Given the description of an element on the screen output the (x, y) to click on. 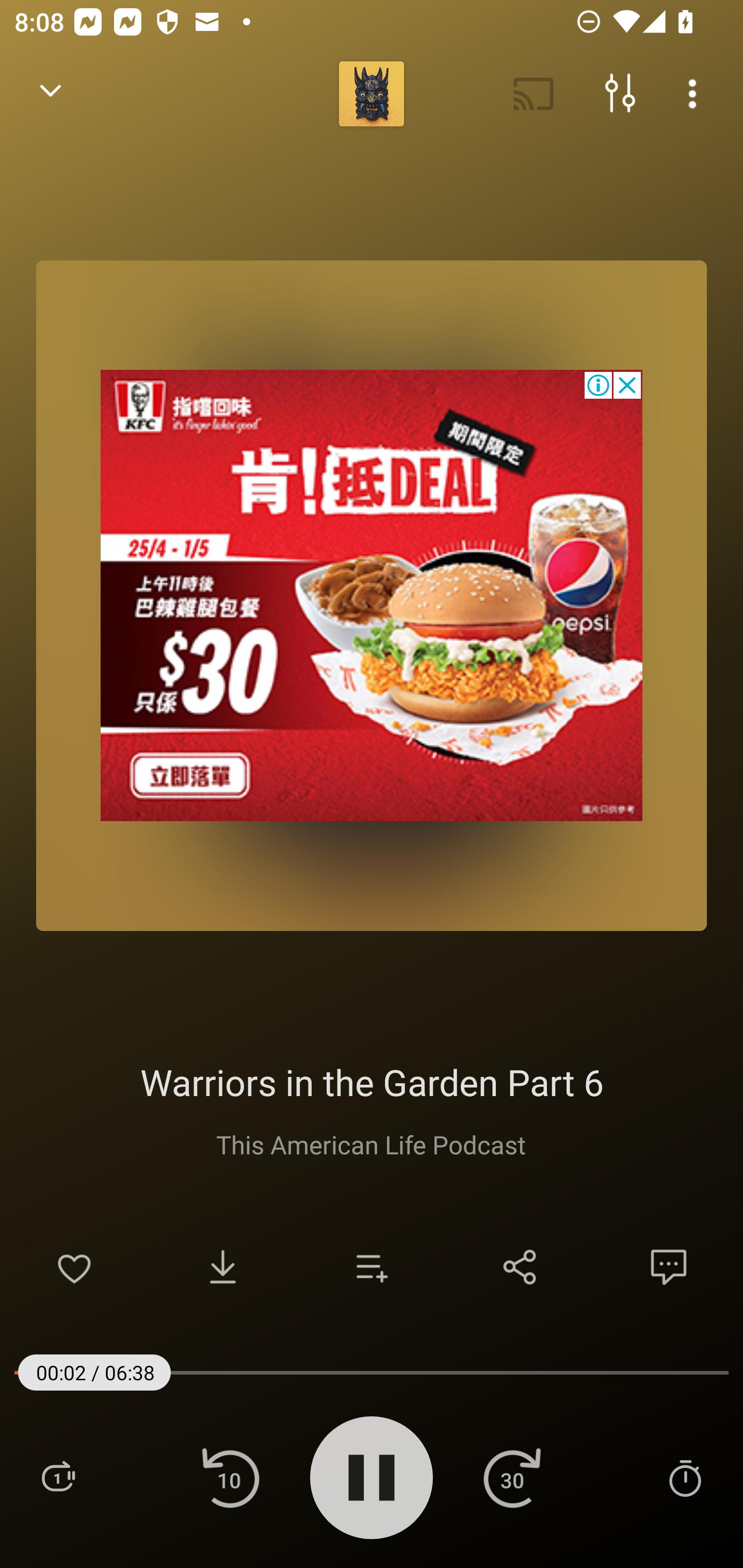
Cast. Disconnected (533, 93)
 Back (50, 94)
Warriors in the Garden Part 6 (371, 1081)
This American Life Podcast (370, 1144)
Comments (668, 1266)
Add to Favorites (73, 1266)
Add to playlist (371, 1266)
Share (519, 1266)
 Playlist (57, 1477)
Sleep Timer  (684, 1477)
